Given the description of an element on the screen output the (x, y) to click on. 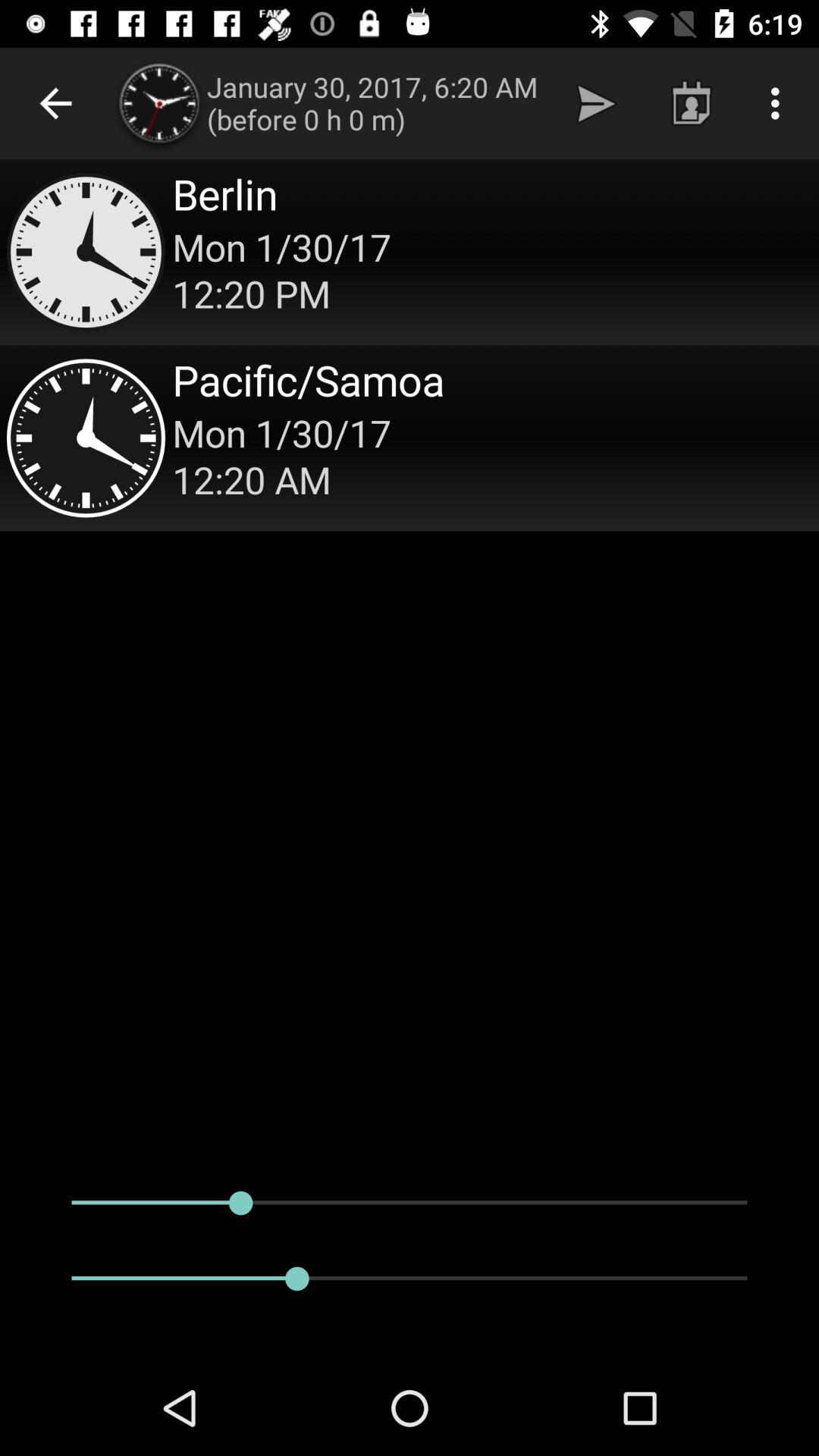
select berlin time zone options (409, 252)
